Given the description of an element on the screen output the (x, y) to click on. 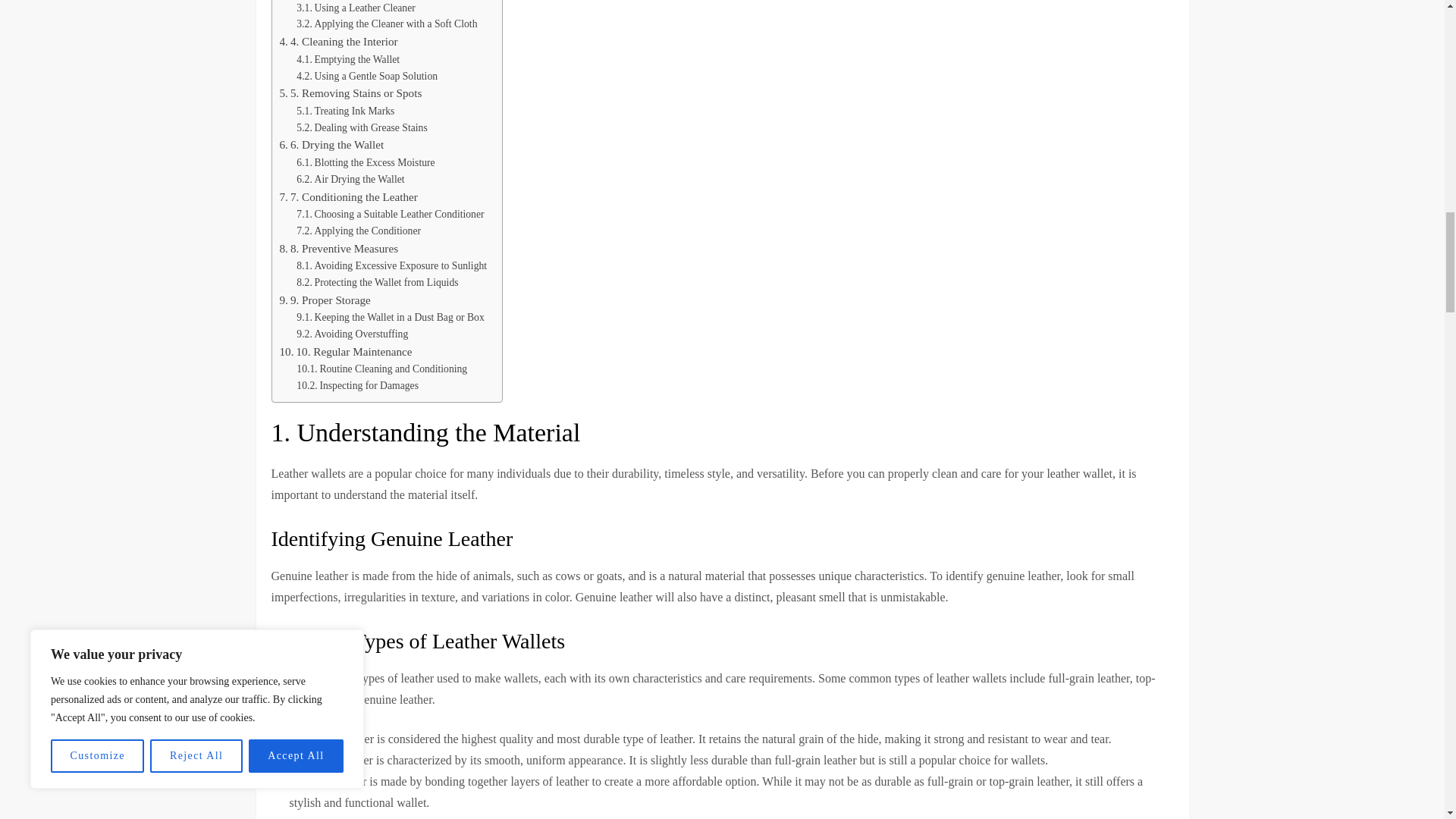
5. Removing Stains or Spots (350, 93)
Dealing with Grease Stains (361, 127)
Treating Ink Marks (345, 111)
6. Drying the Wallet (331, 144)
4. Cleaning the Interior (338, 41)
Emptying the Wallet (347, 59)
Applying the Cleaner with a Soft Cloth (387, 23)
Using a Leather Cleaner (355, 8)
Using a Gentle Soap Solution (367, 76)
